Given the description of an element on the screen output the (x, y) to click on. 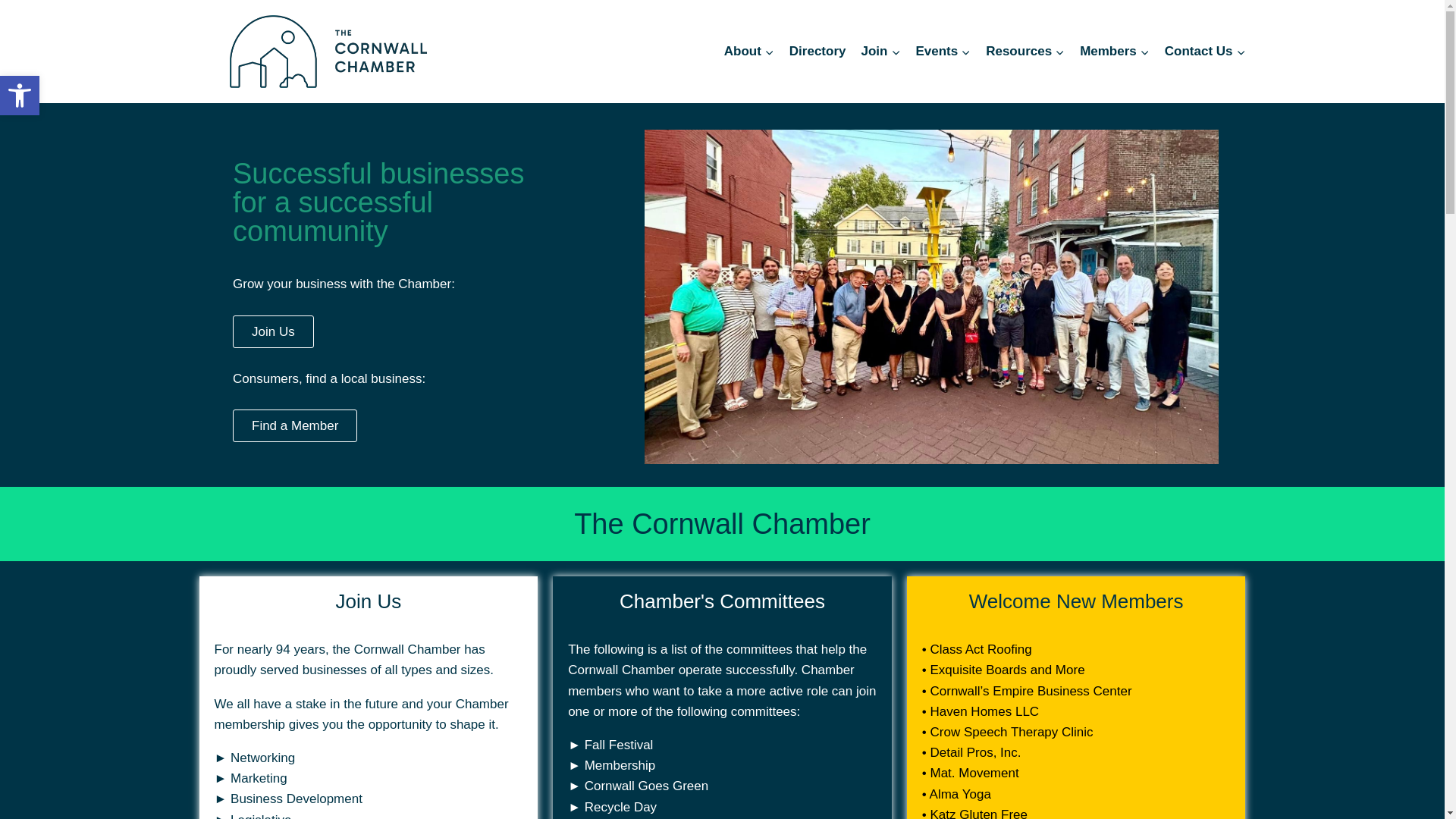
Join (880, 51)
Resources (1024, 51)
About (748, 51)
Events (942, 51)
Directory (817, 51)
Accessibility Tools (19, 95)
Accessibility Tools (19, 95)
Members (19, 95)
